Given the description of an element on the screen output the (x, y) to click on. 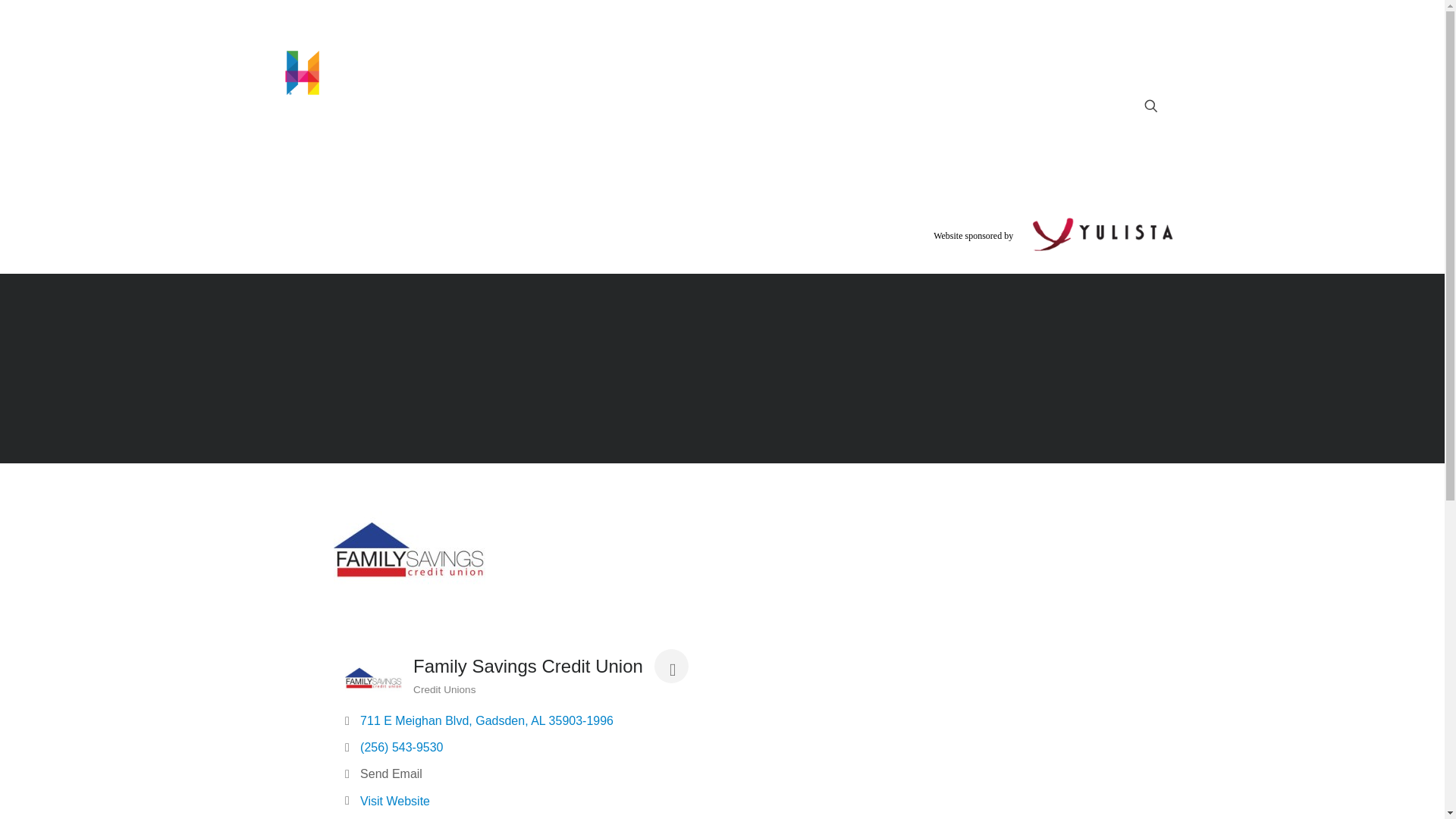
Family Savings Credit Union (373, 678)
Family Savings Credit Union (408, 550)
Cummings Research Park (761, 140)
Economic Development (600, 140)
NEW! Small Business Resources (409, 140)
Departments (912, 140)
